Given the description of an element on the screen output the (x, y) to click on. 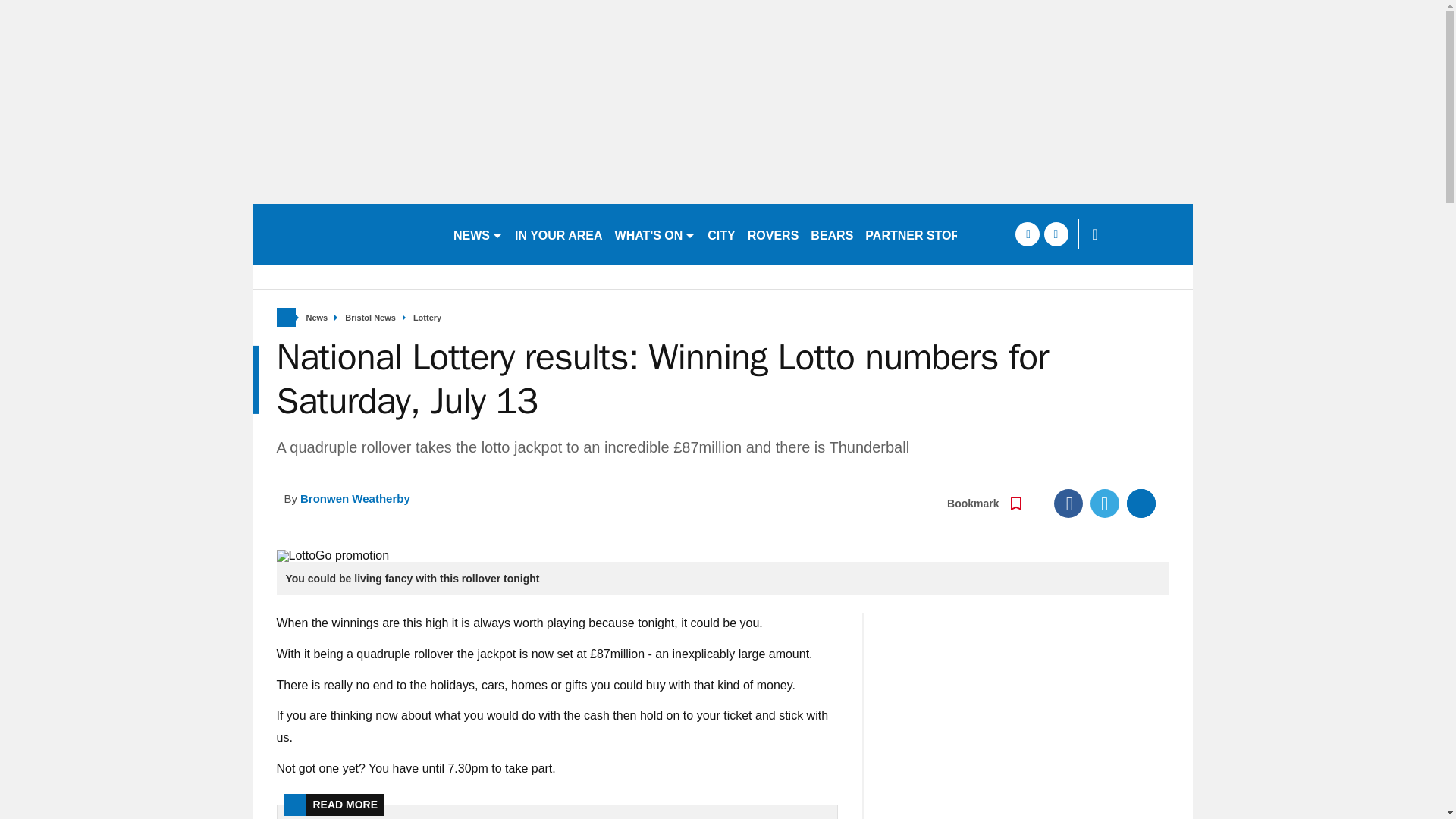
NEWS (477, 233)
IN YOUR AREA (558, 233)
Twitter (1104, 502)
facebook (1026, 233)
twitter (1055, 233)
PARTNER STORIES (922, 233)
BEARS (832, 233)
Facebook (1068, 502)
ROVERS (773, 233)
WHAT'S ON (654, 233)
